Given the description of an element on the screen output the (x, y) to click on. 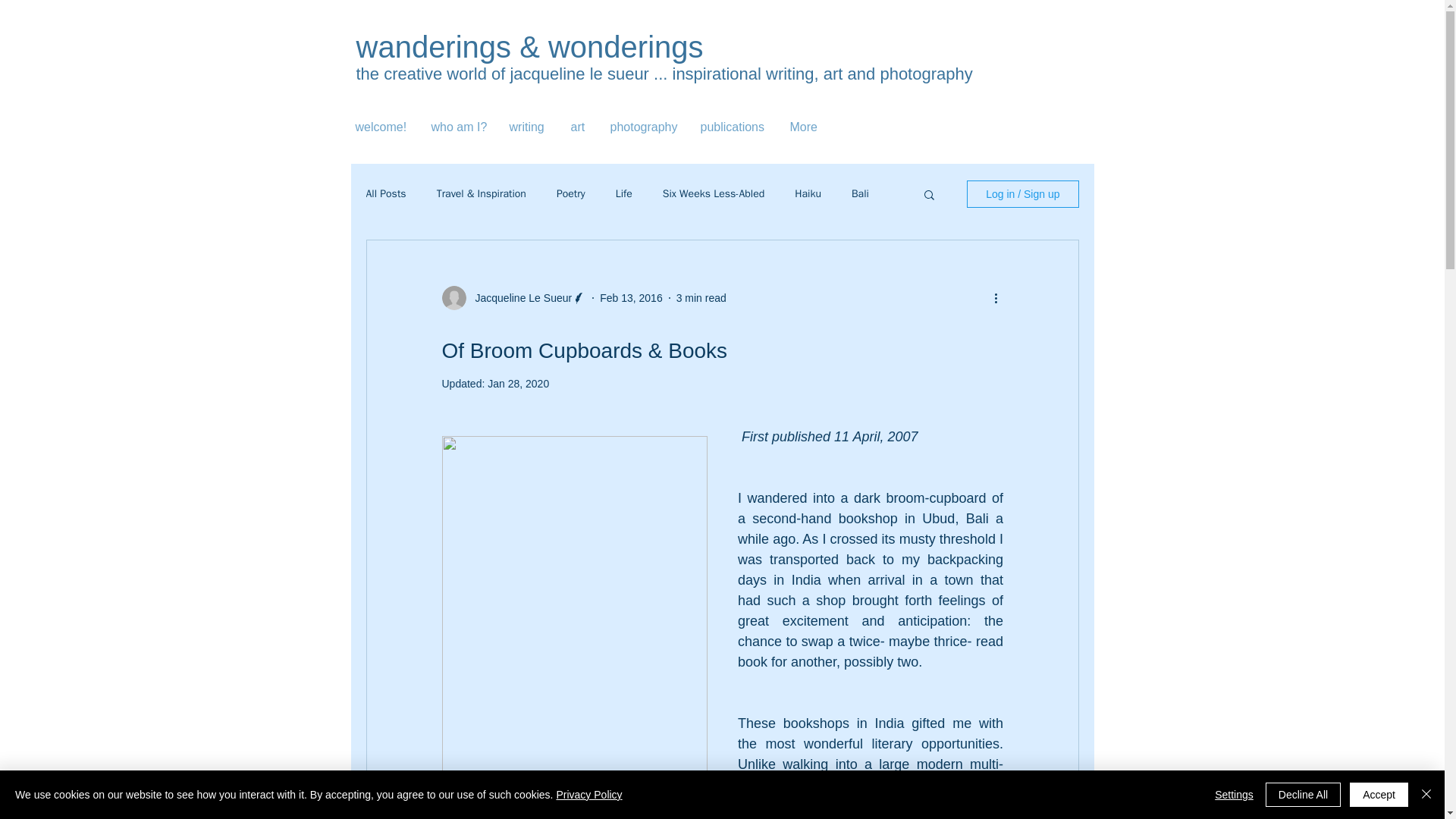
Six Weeks Less-Abled (713, 193)
Feb 13, 2016 (630, 297)
3 min read (701, 297)
writing (528, 127)
Jan 28, 2020 (517, 383)
who am I? (458, 127)
Jacqueline Le Sueur (518, 297)
Life (623, 193)
art (578, 127)
photography (643, 127)
